Given the description of an element on the screen output the (x, y) to click on. 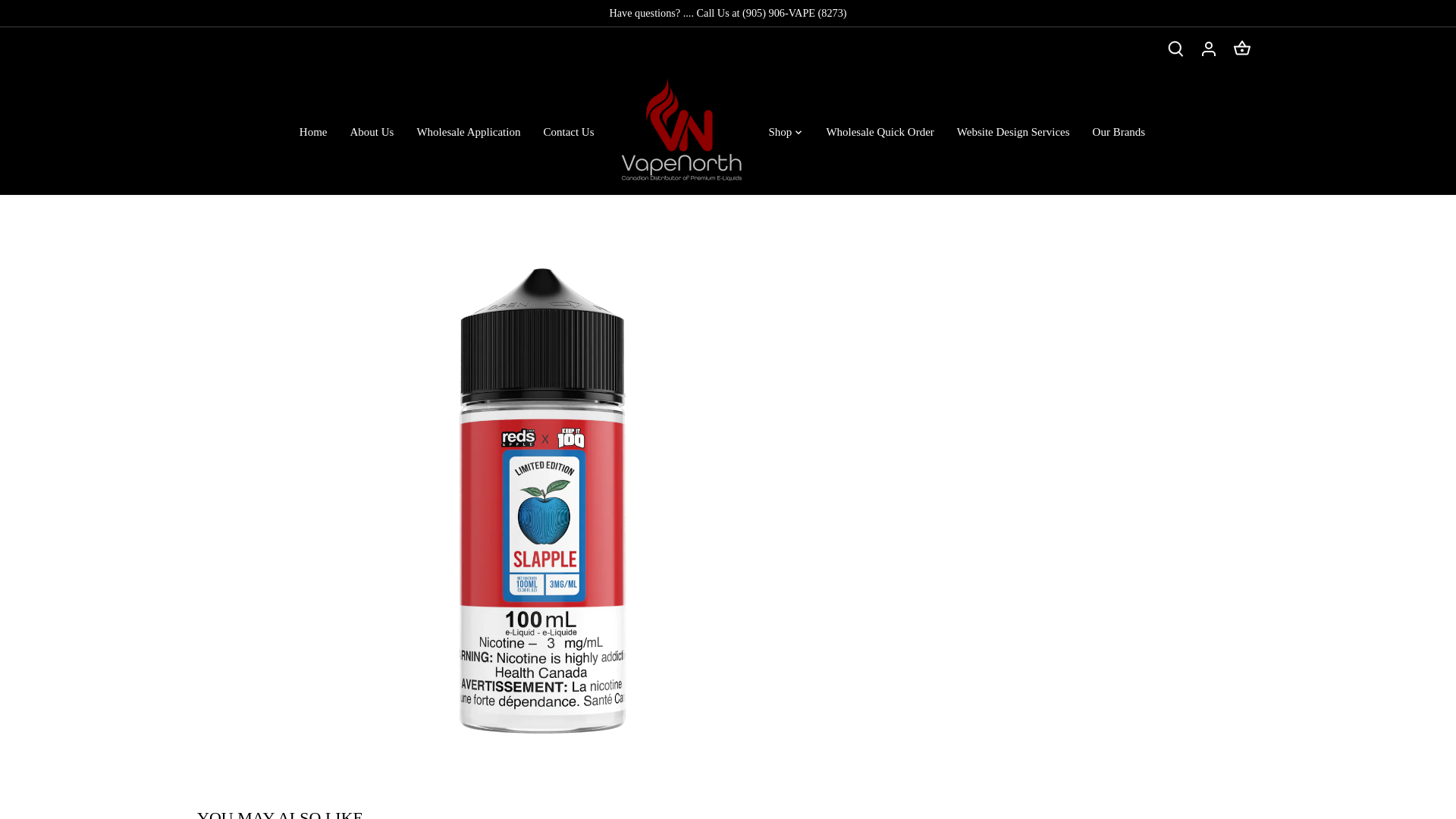
Wholesale Quick Order (878, 132)
Shop (780, 132)
Contact Us (568, 132)
Home (319, 132)
Our Brands (1119, 132)
Website Design Services (1012, 132)
About Us (370, 132)
Wholesale Application (467, 132)
